Given the description of an element on the screen output the (x, y) to click on. 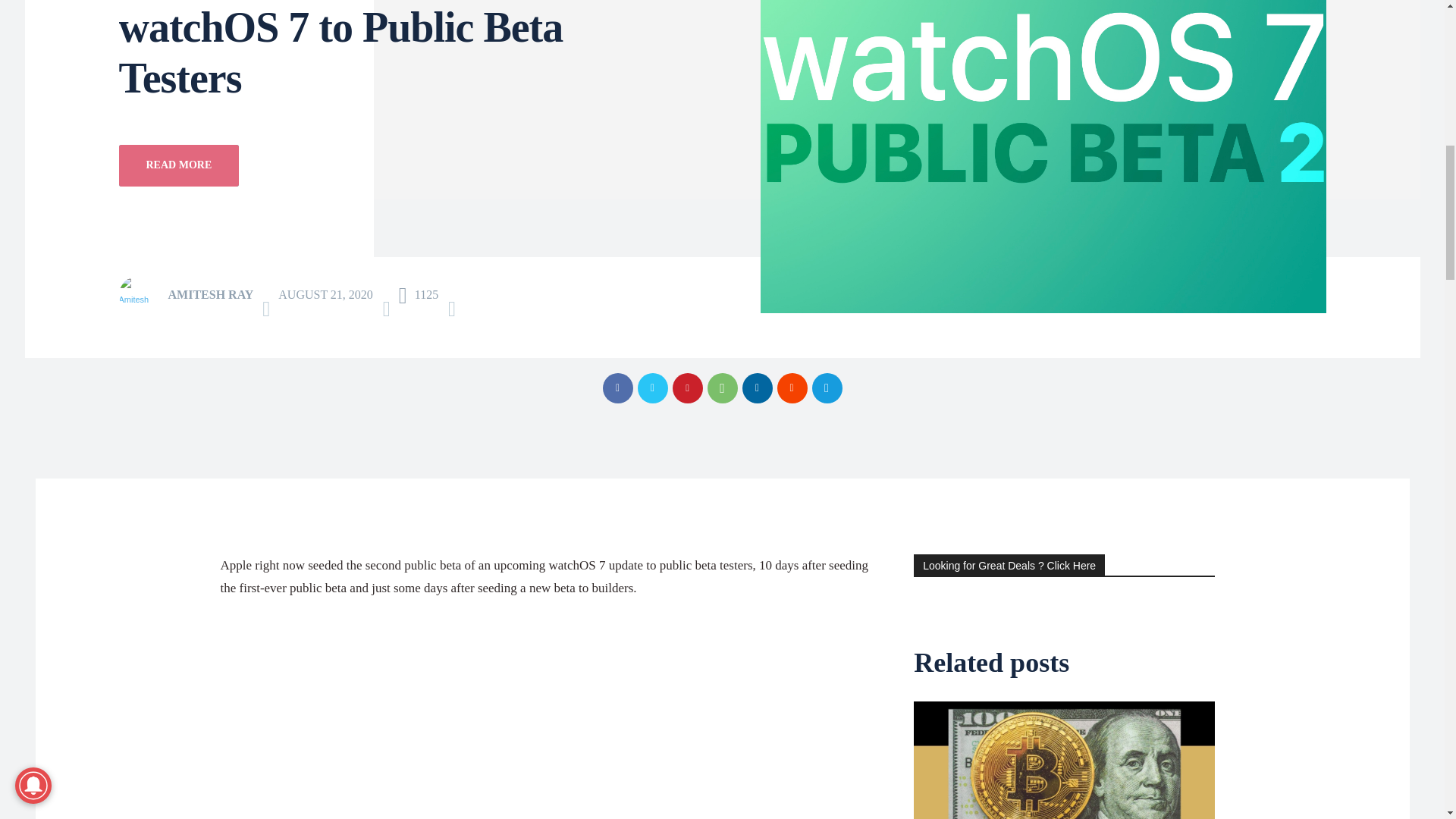
WhatsApp (721, 388)
Twitter (651, 388)
Pinterest (686, 388)
ReddIt (791, 388)
Linkedin (756, 388)
Amitesh Ray (141, 294)
Facebook (616, 388)
Read More (177, 165)
Telegram (825, 388)
